Given the description of an element on the screen output the (x, y) to click on. 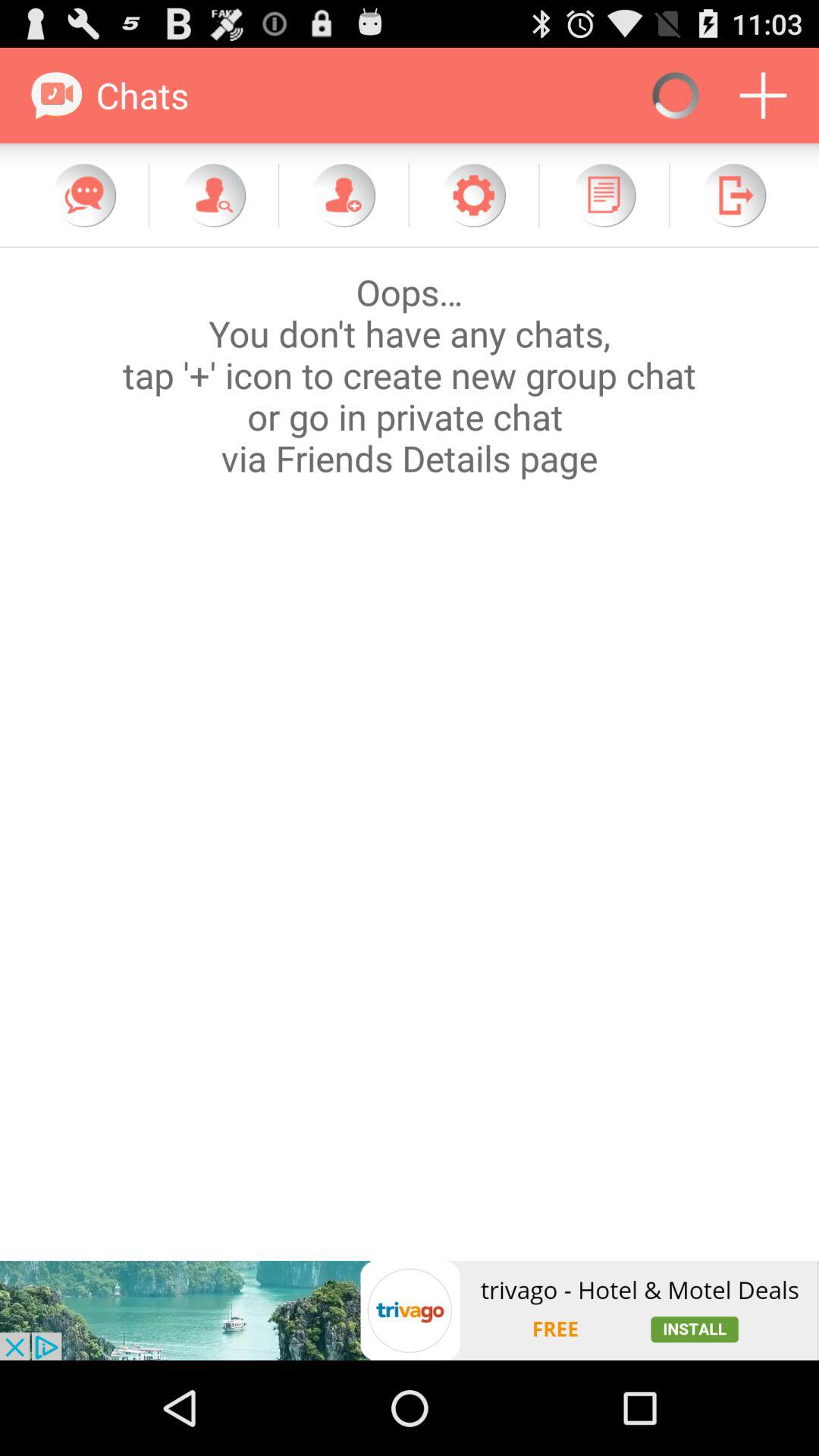
error occured (409, 753)
